Given the description of an element on the screen output the (x, y) to click on. 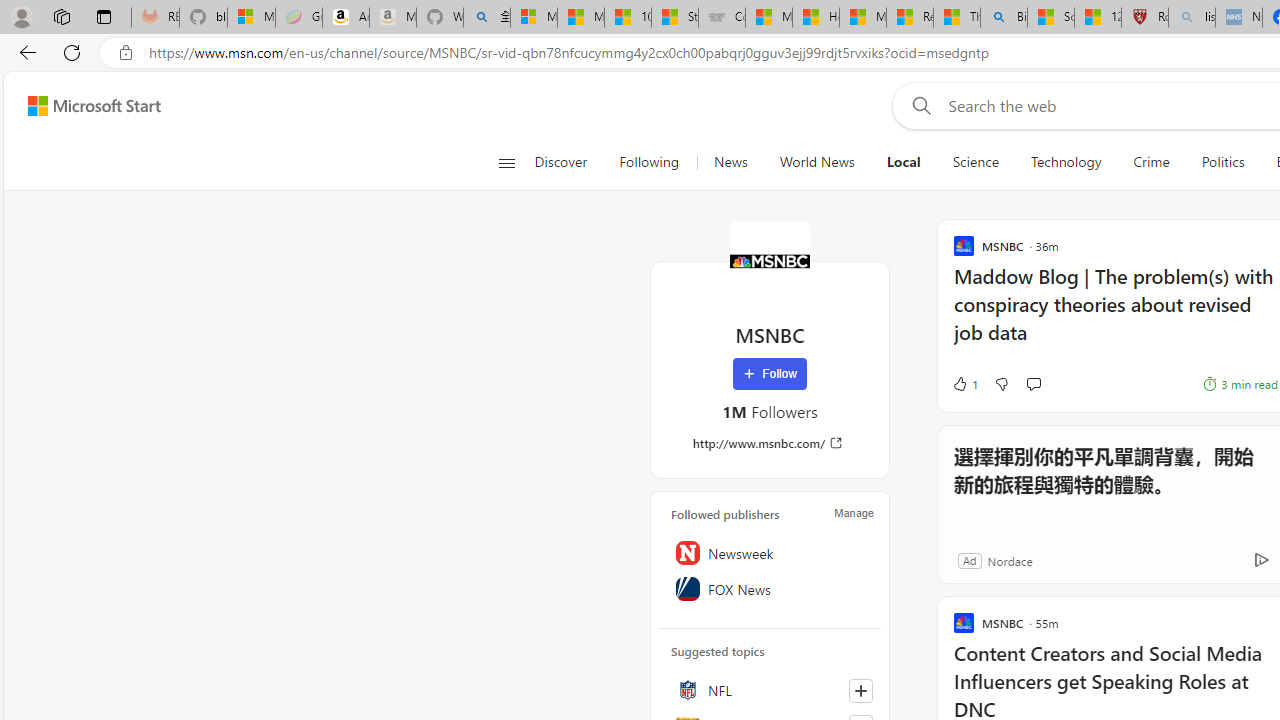
Follow this topic (860, 690)
MSNBC (769, 260)
Robert H. Shmerling, MD - Harvard Health (1145, 17)
Newsweek (770, 552)
http://www.msnbc.com/ (769, 443)
